Given the description of an element on the screen output the (x, y) to click on. 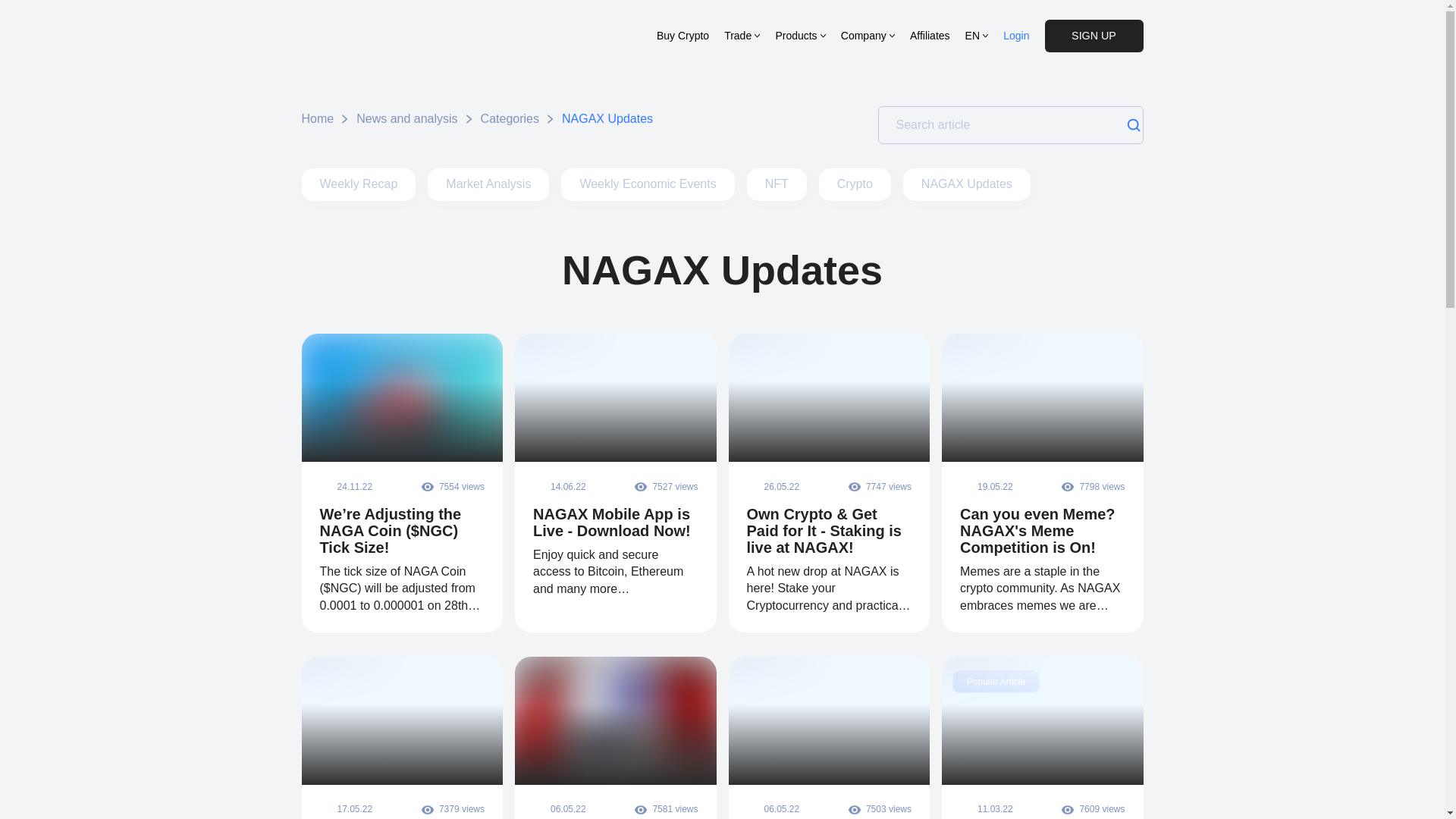
Categories (509, 118)
Buy Crypto (682, 35)
News and analysis (406, 118)
Login (1015, 35)
NFT (776, 184)
Weekly Economic Events (646, 184)
Home (317, 118)
Market Analysis (488, 184)
Crypto (854, 184)
SIGN UP (1093, 35)
NAGAX Updates (966, 184)
Weekly Recap (358, 184)
Affiliates (930, 35)
